Given the description of an element on the screen output the (x, y) to click on. 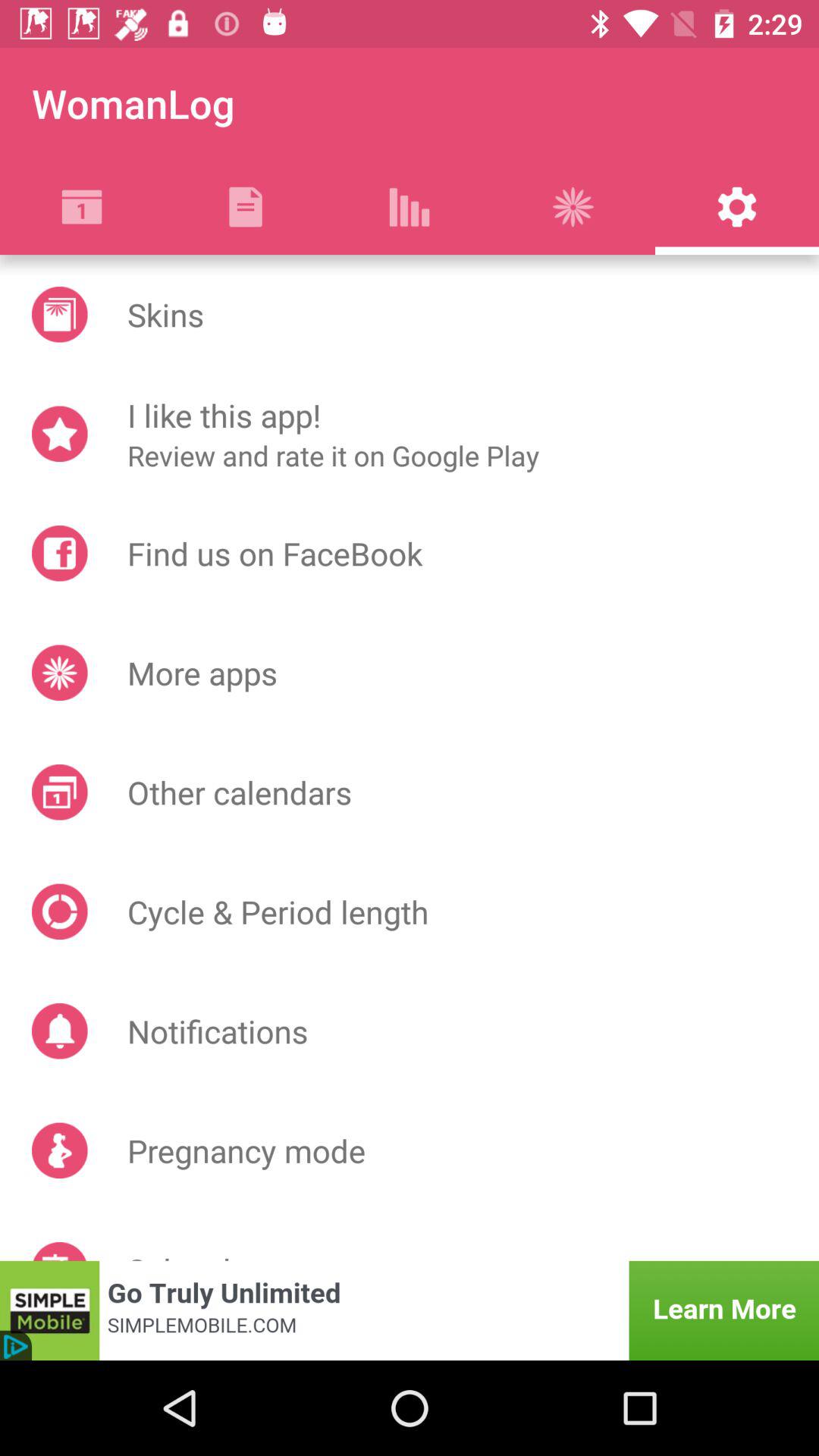
click on first option under womanlog (82, 207)
click on icon left to text skins (59, 314)
click on the icon above the simple mobile (59, 1250)
